Given the description of an element on the screen output the (x, y) to click on. 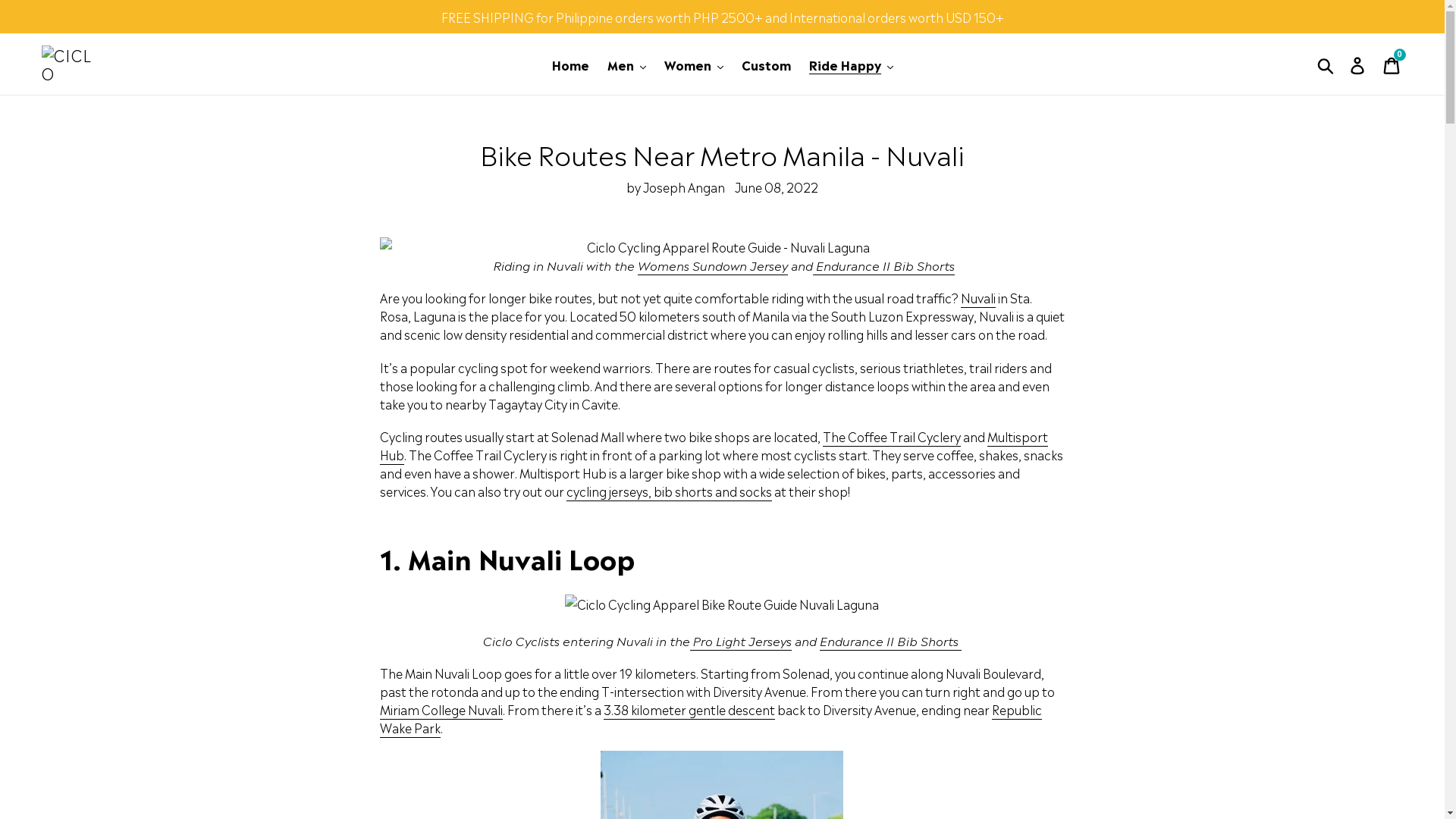
Endurance II Bib Shorts  Element type: text (890, 640)
Nuvali Element type: text (977, 297)
Cart
0 Element type: text (1392, 63)
Endurance II Bib Shorts Element type: text (883, 265)
Pro Light Jerseys Element type: text (740, 640)
cycling jerseys, bib shorts and socks Element type: text (668, 491)
Miriam College Nuvali Element type: text (440, 709)
Custom Element type: text (766, 64)
Multisport Hub Element type: text (713, 445)
Womens Sundown Jersey Element type: text (712, 265)
Log in Element type: text (1358, 63)
Republic Wake Park Element type: text (710, 718)
3.38 kilometer gentle descent Element type: text (689, 709)
Submit Element type: text (1326, 63)
The Coffee Trail Cyclery Element type: text (891, 436)
Home Element type: text (570, 64)
